Given the description of an element on the screen output the (x, y) to click on. 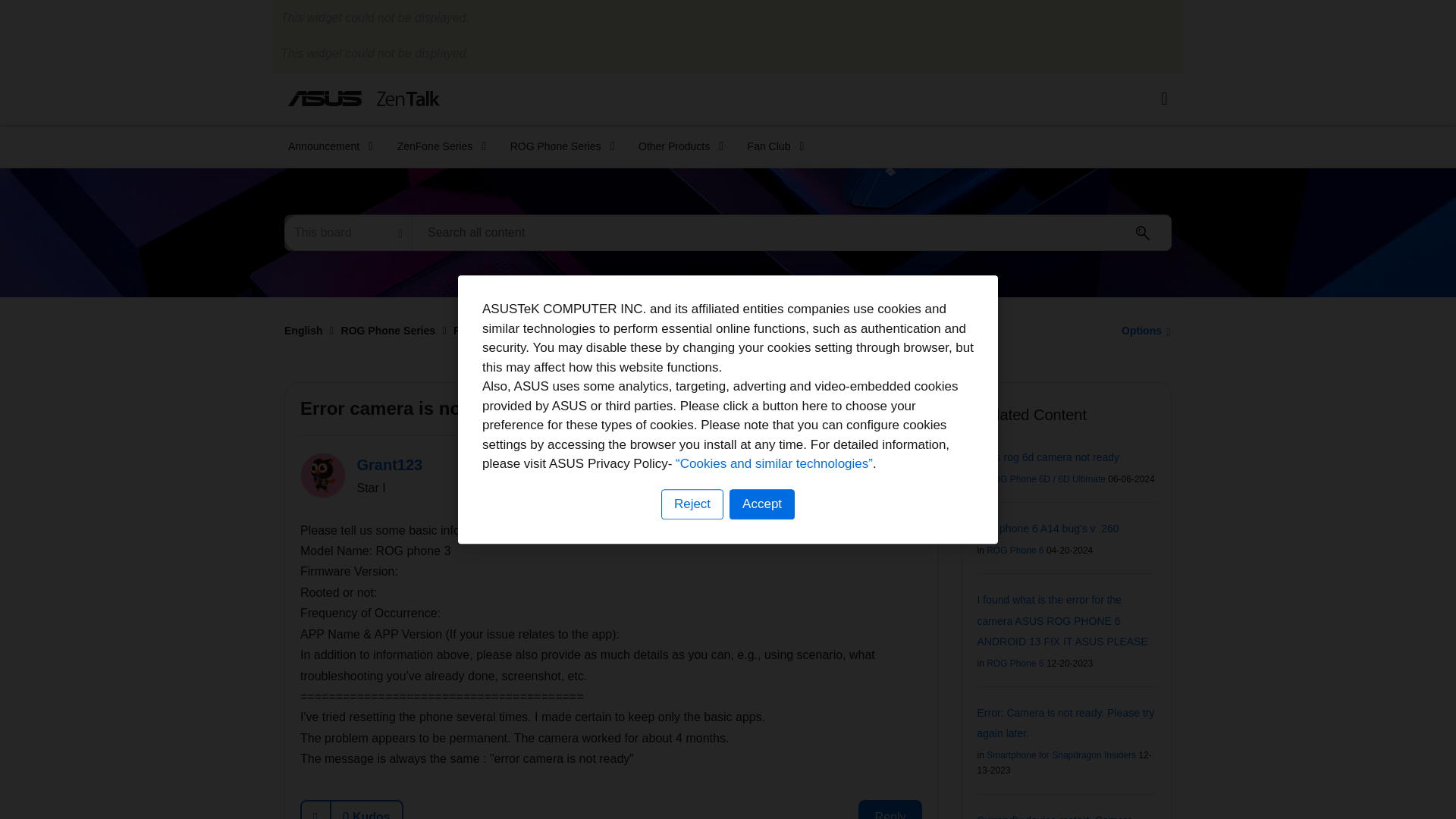
ZenFone Series (436, 146)
Search (792, 232)
The total number of kudos this post has received. (366, 810)
Search (1142, 232)
Click here to give kudos to this post. (316, 810)
ASUS - ZenTalk (363, 97)
Other Products (676, 146)
Search Granularity (347, 232)
Search (1142, 232)
Announcement (325, 146)
ROG Phone Series (557, 146)
Show option menu (1142, 330)
Grant123 (322, 474)
